Given the description of an element on the screen output the (x, y) to click on. 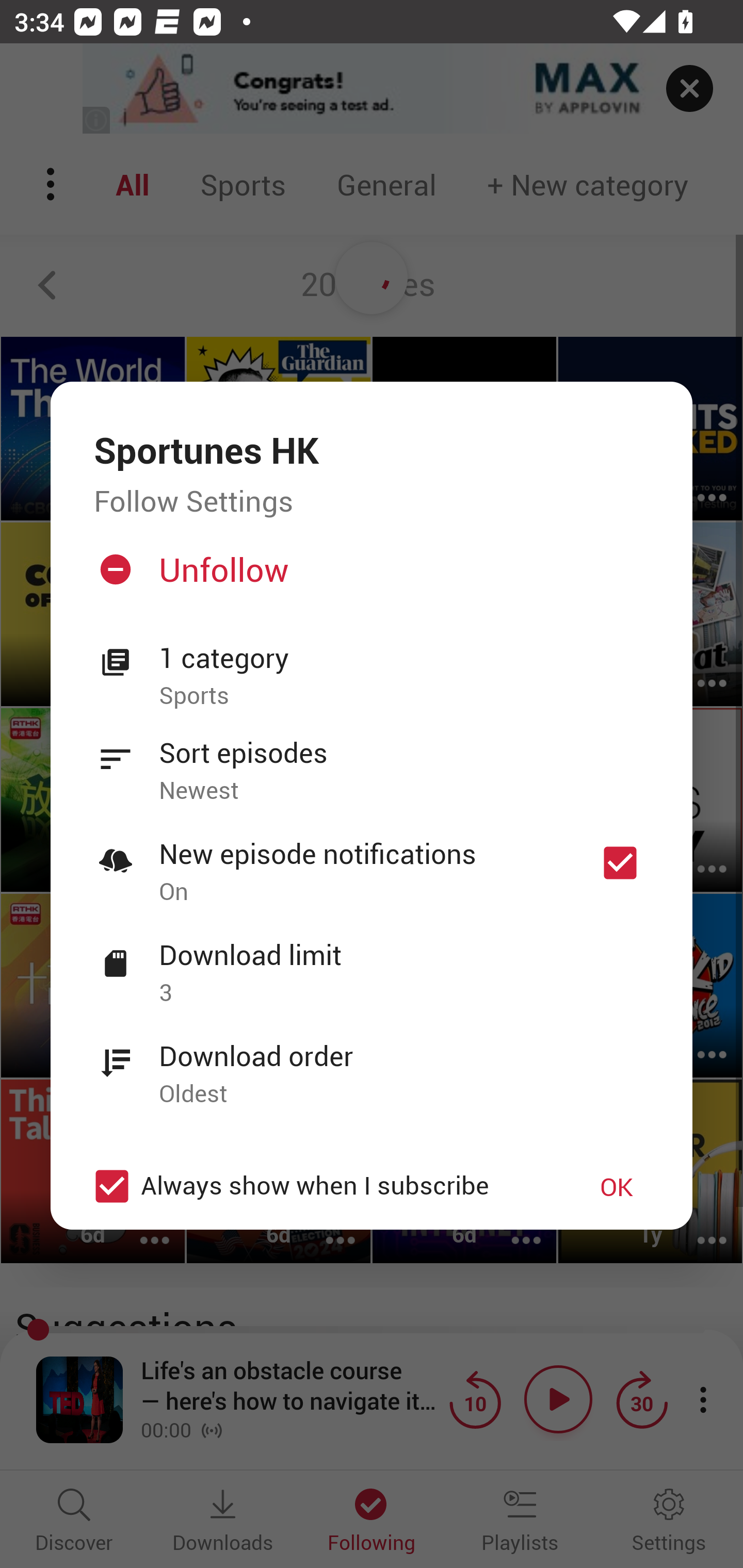
Unfollow (369, 576)
1 category (404, 658)
Sports (404, 696)
Sort episodes Newest (371, 760)
New episode notifications (620, 863)
Download limit 3 (371, 962)
Download order Oldest (371, 1063)
OK (616, 1186)
Always show when I subscribe (320, 1186)
